Given the description of an element on the screen output the (x, y) to click on. 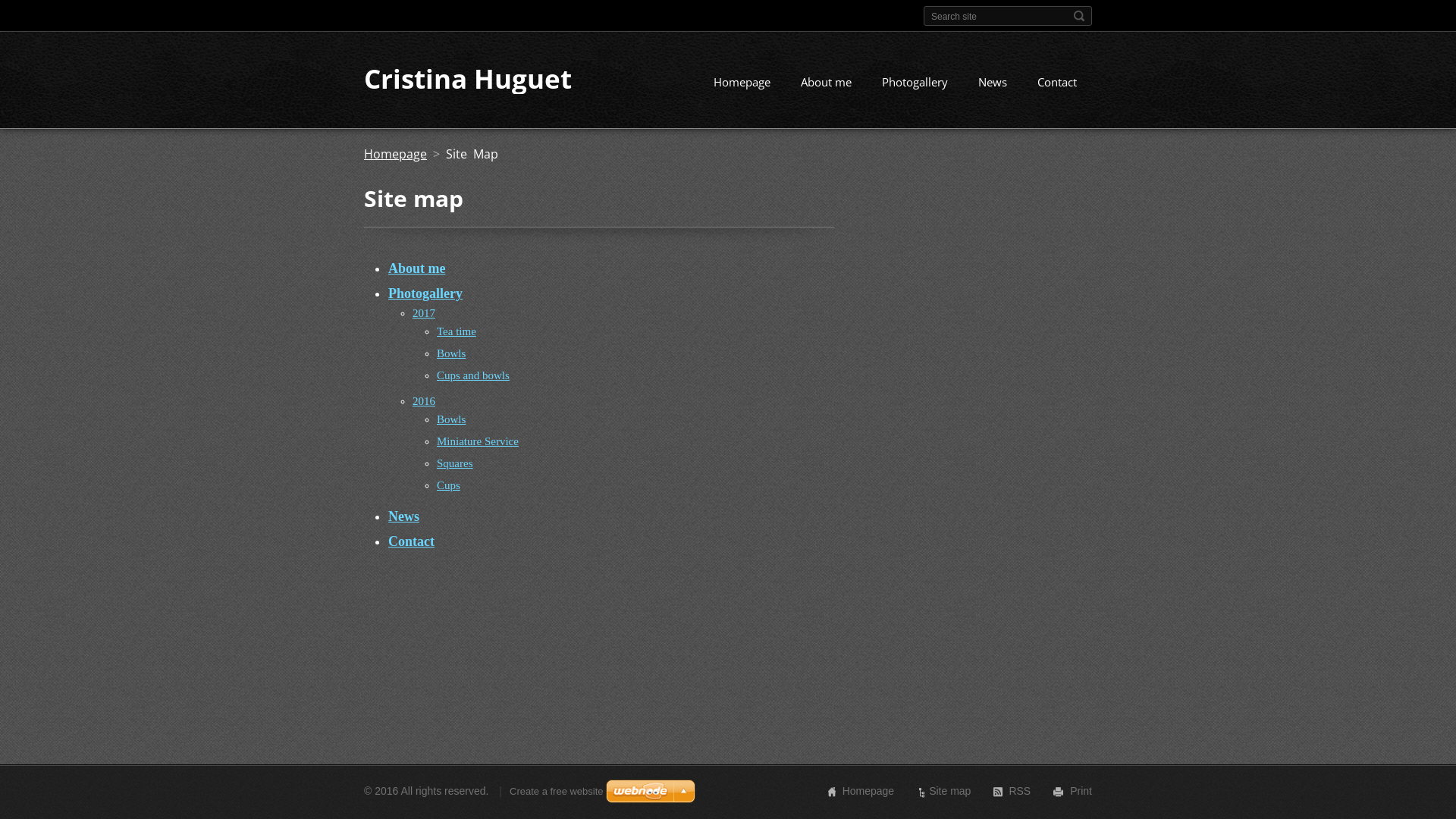
Homepage Element type: text (395, 153)
Search Element type: text (1078, 15)
Homepage Element type: text (868, 790)
Photogallery Element type: text (425, 293)
RSS Element type: text (1019, 790)
News Element type: text (403, 516)
Tea time Element type: text (456, 331)
Cups Element type: text (448, 485)
Bowls Element type: text (450, 353)
Bowls Element type: text (450, 419)
Create a free website Element type: text (556, 791)
2016 Element type: text (423, 401)
Site map Element type: text (949, 790)
Miniature Service Element type: text (477, 441)
Squares Element type: text (454, 463)
About me Element type: text (825, 83)
News Element type: text (992, 83)
Contact Element type: text (1057, 83)
Print Element type: text (1081, 790)
Contact Element type: text (411, 541)
Cups and bowls Element type: text (472, 375)
Homepage Element type: text (741, 83)
About me Element type: text (416, 268)
2017 Element type: text (423, 313)
Cristina Huguet Element type: text (467, 78)
Photogallery Element type: text (914, 83)
